Given the description of an element on the screen output the (x, y) to click on. 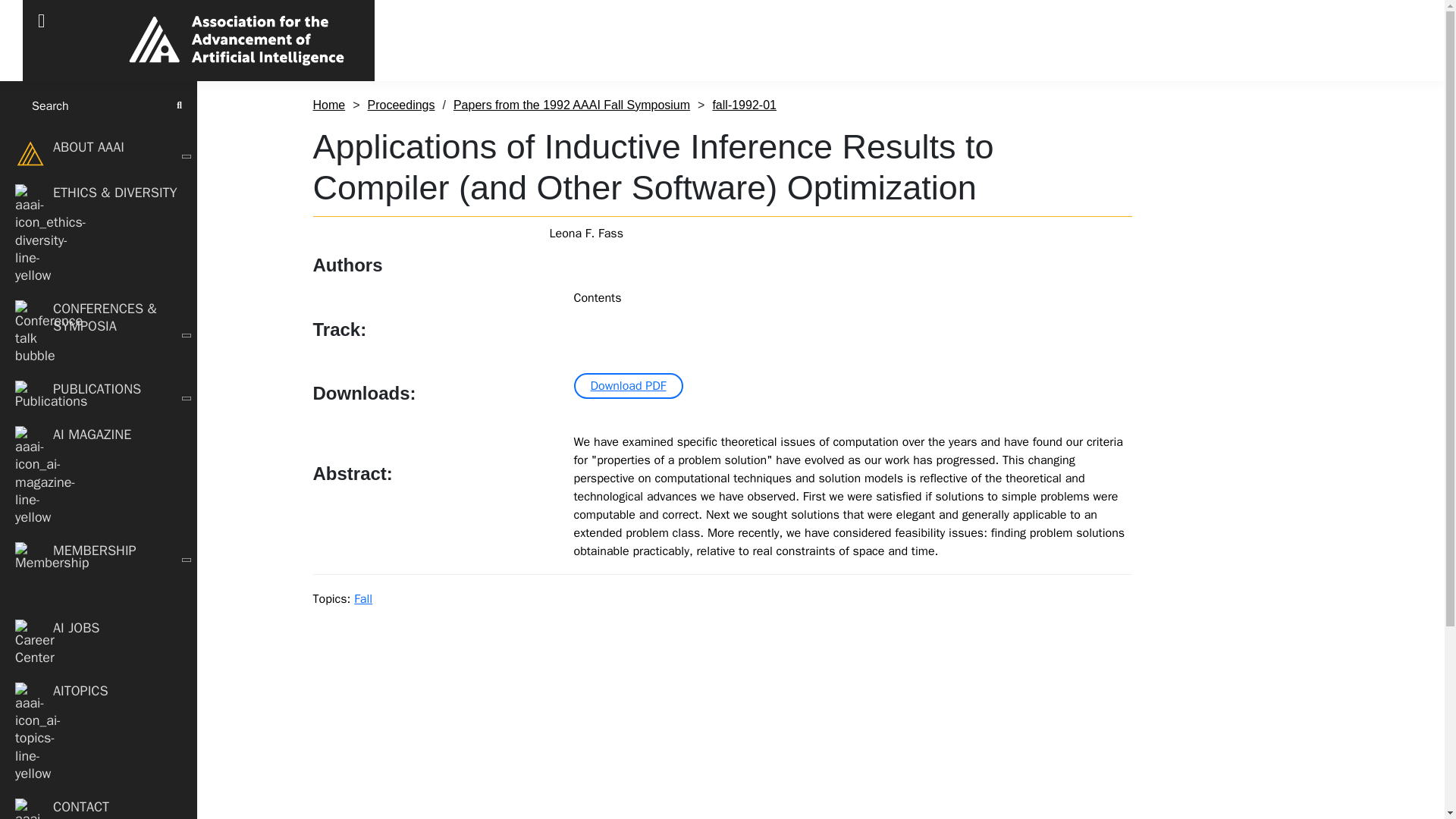
ABOUT AAAI (98, 153)
